Given the description of an element on the screen output the (x, y) to click on. 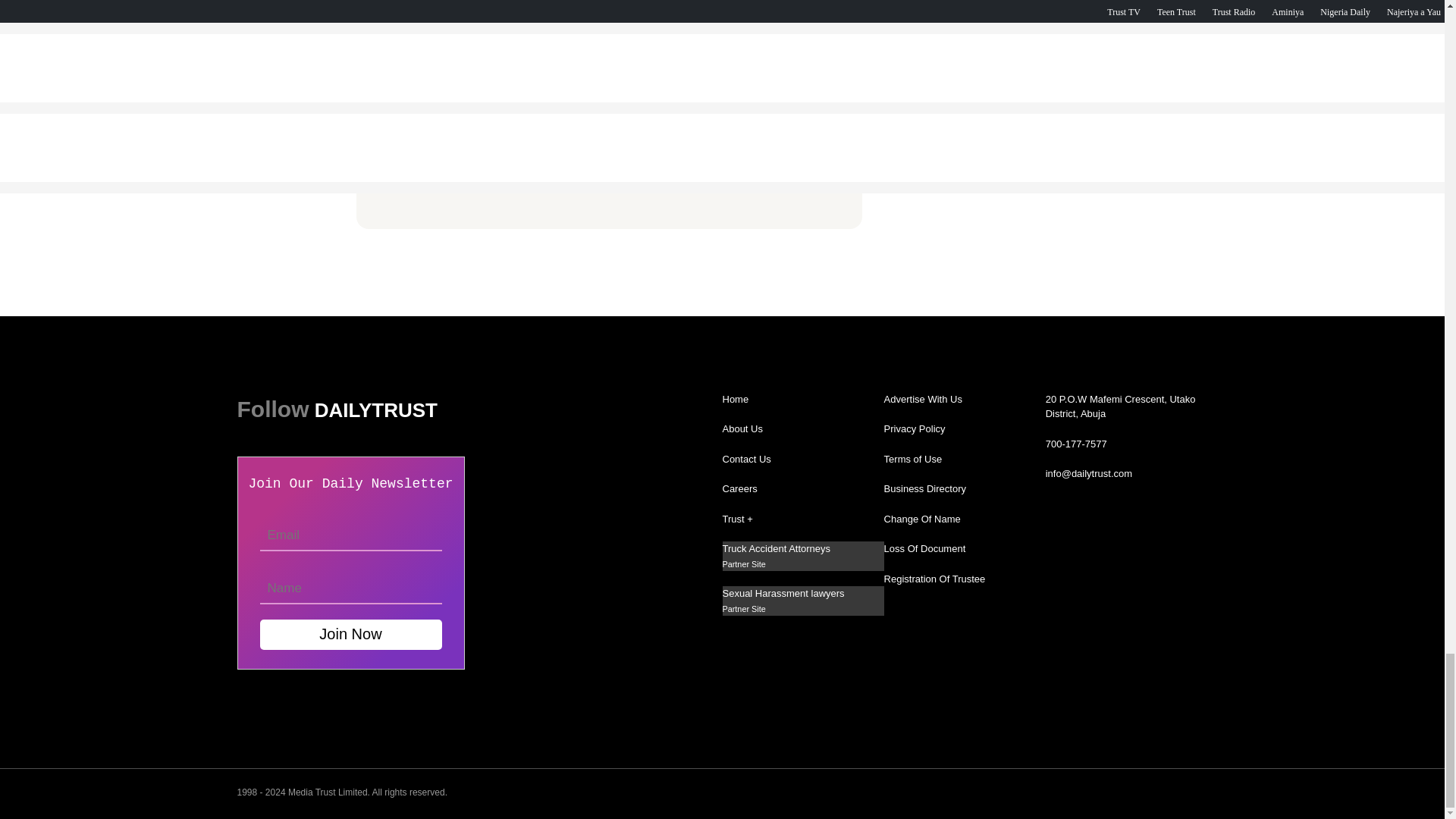
Join Now (350, 634)
